Given the description of an element on the screen output the (x, y) to click on. 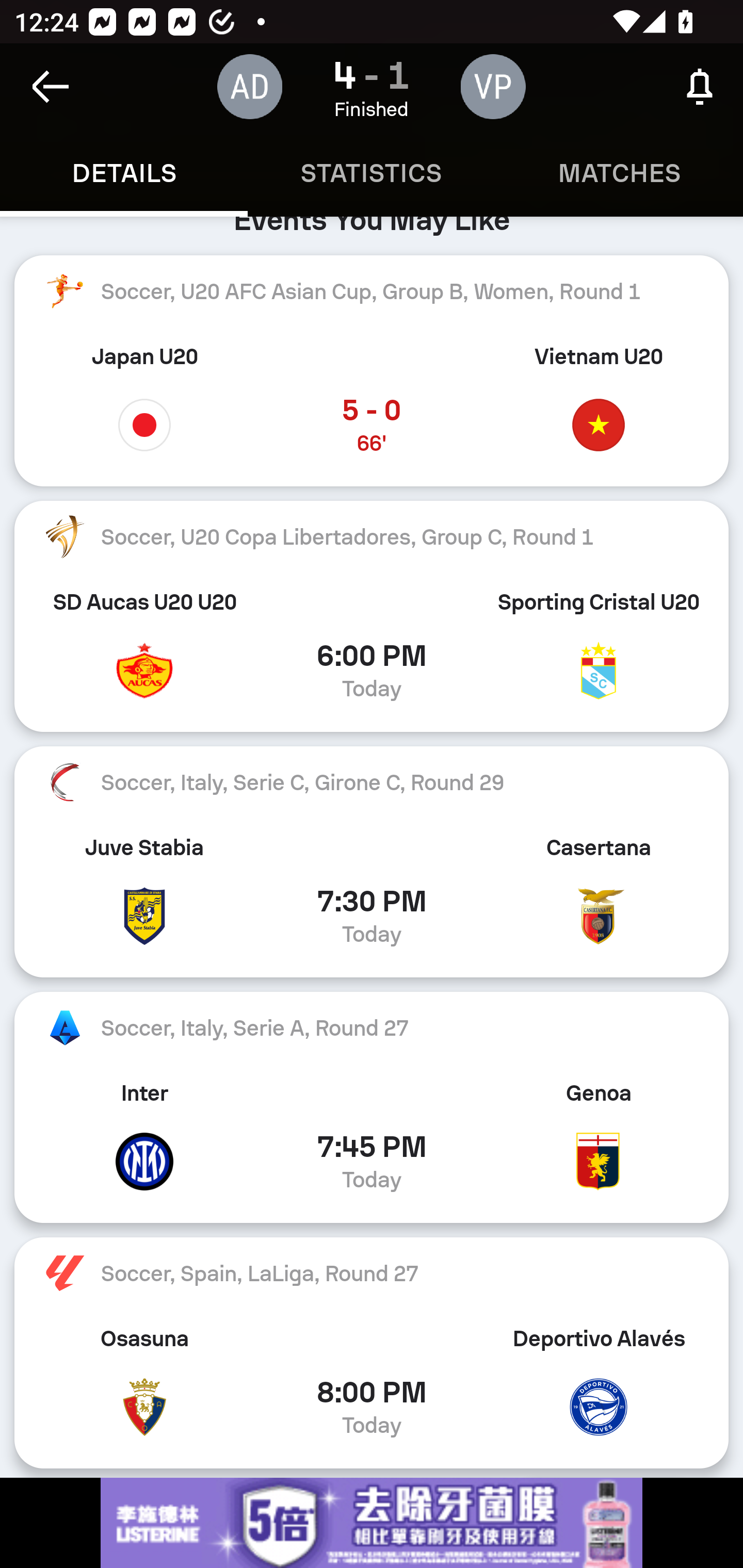
Navigate up (50, 86)
Statistics STATISTICS (371, 173)
Matches MATCHES (619, 173)
Soccer, U20 AFC Asian Cup, Group B, Women, Round 1 (371, 291)
Soccer, U20 Copa Libertadores, Group C, Round 1 (371, 536)
Soccer, Italy, Serie C, Girone C, Round 29 (371, 782)
Soccer, Italy, Serie A, Round 27 (371, 1028)
Soccer, Spain, LaLiga, Round 27 (371, 1273)
Advertisement (371, 1522)
